Given the description of an element on the screen output the (x, y) to click on. 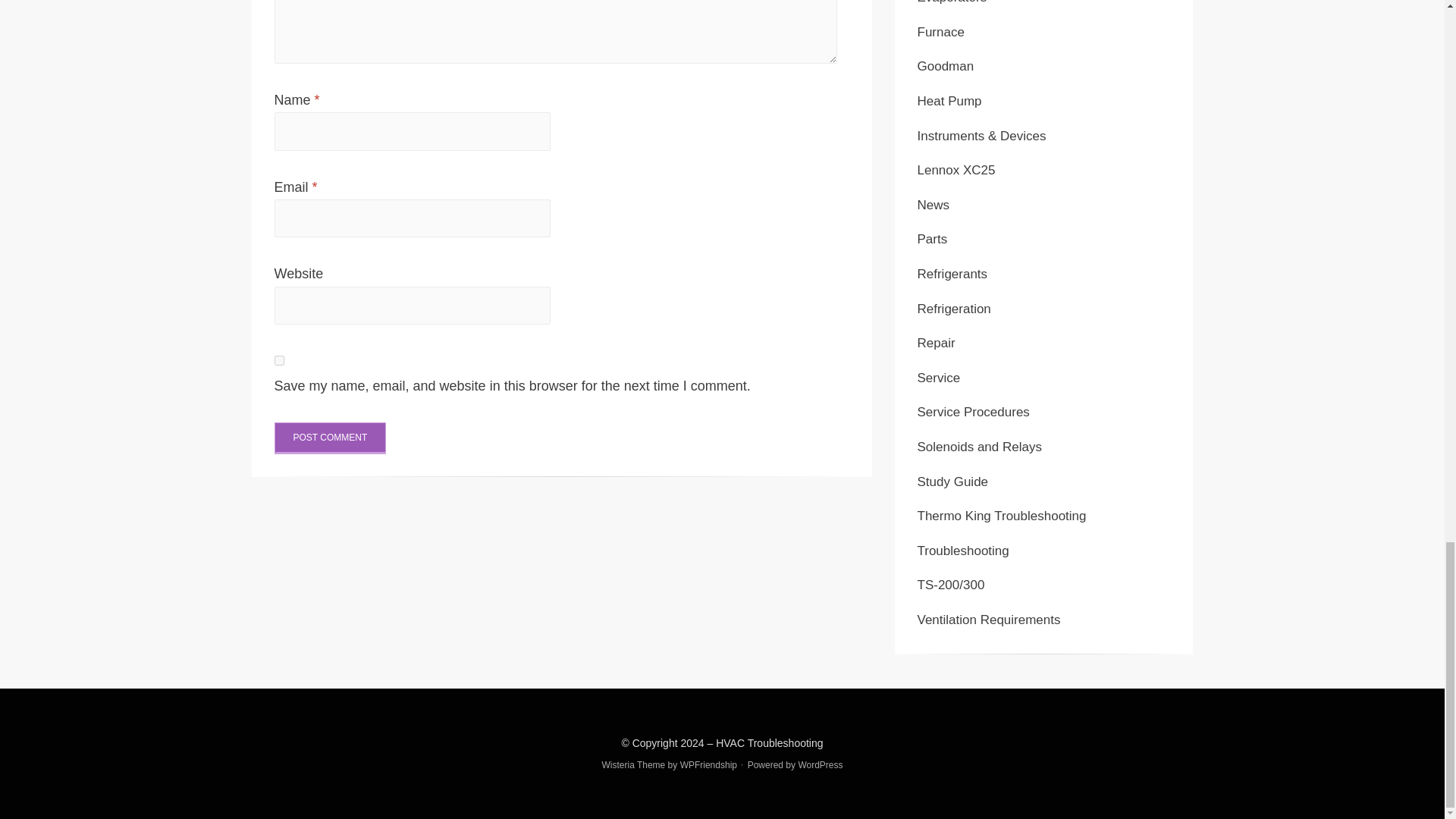
Post Comment (331, 438)
Post Comment (331, 438)
Goodman (945, 65)
Heat Pump (949, 101)
Evaporators (952, 2)
WPFriendship (707, 765)
yes (279, 360)
Furnace (940, 32)
WordPress (820, 765)
